Given the description of an element on the screen output the (x, y) to click on. 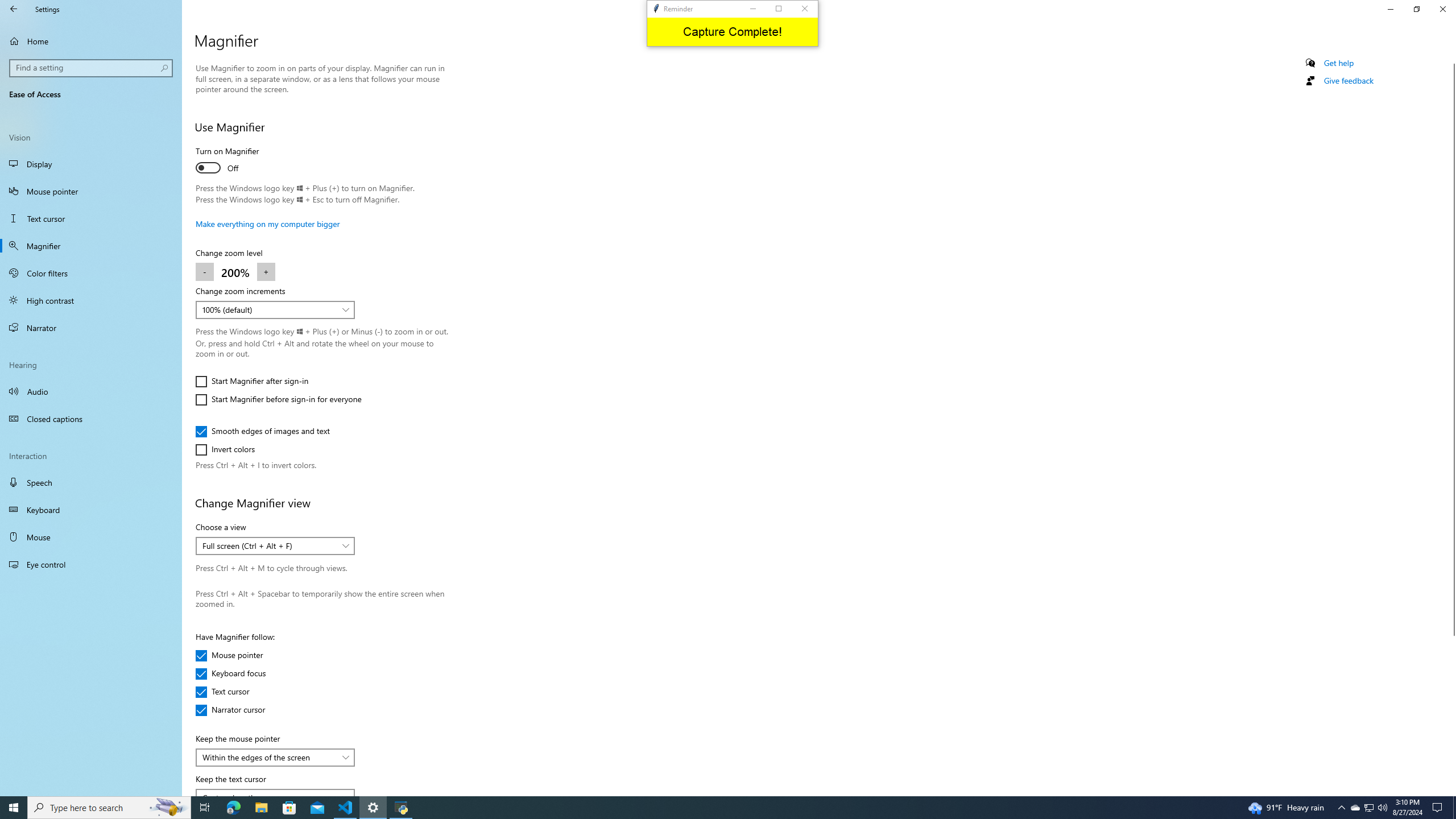
Centered on the screen (269, 793)
Minimize Settings (1390, 9)
Text cursor (229, 692)
Pinning Magnifier to Start (1351, 82)
Back (13, 9)
Smooth edges of images and text (262, 431)
Narrator (91, 327)
Display (91, 163)
Closed captions (91, 418)
Keep the text cursor (275, 792)
Make everything on my computer bigger (267, 223)
High contrast (91, 299)
Vertical Small Increase (1451, 791)
Vertical Large Increase (1451, 711)
